Given the description of an element on the screen output the (x, y) to click on. 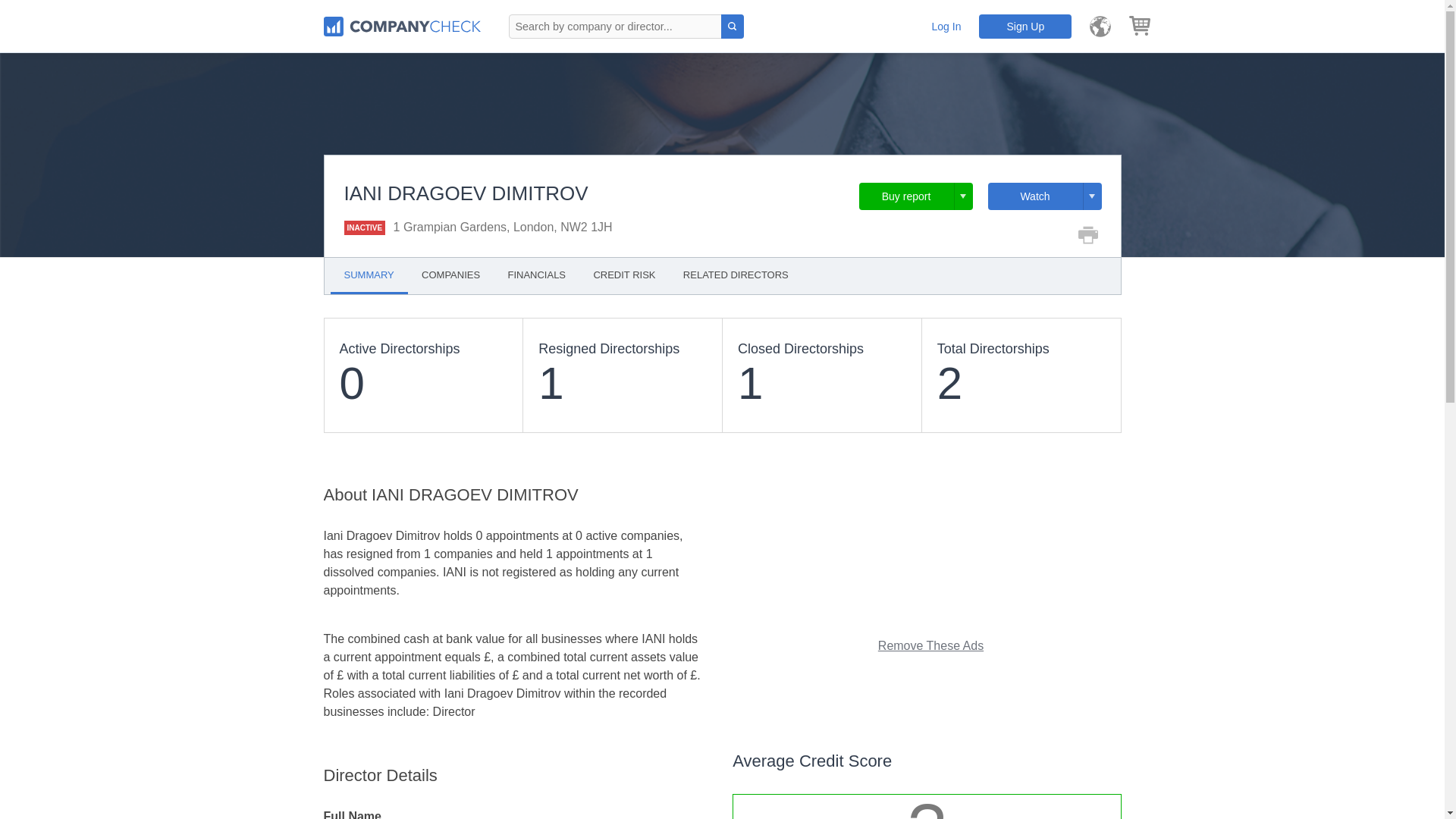
Log In (945, 25)
COMPANIES (451, 274)
Buy report (915, 195)
Watch (1043, 195)
Sign Up (1024, 25)
